Given the description of an element on the screen output the (x, y) to click on. 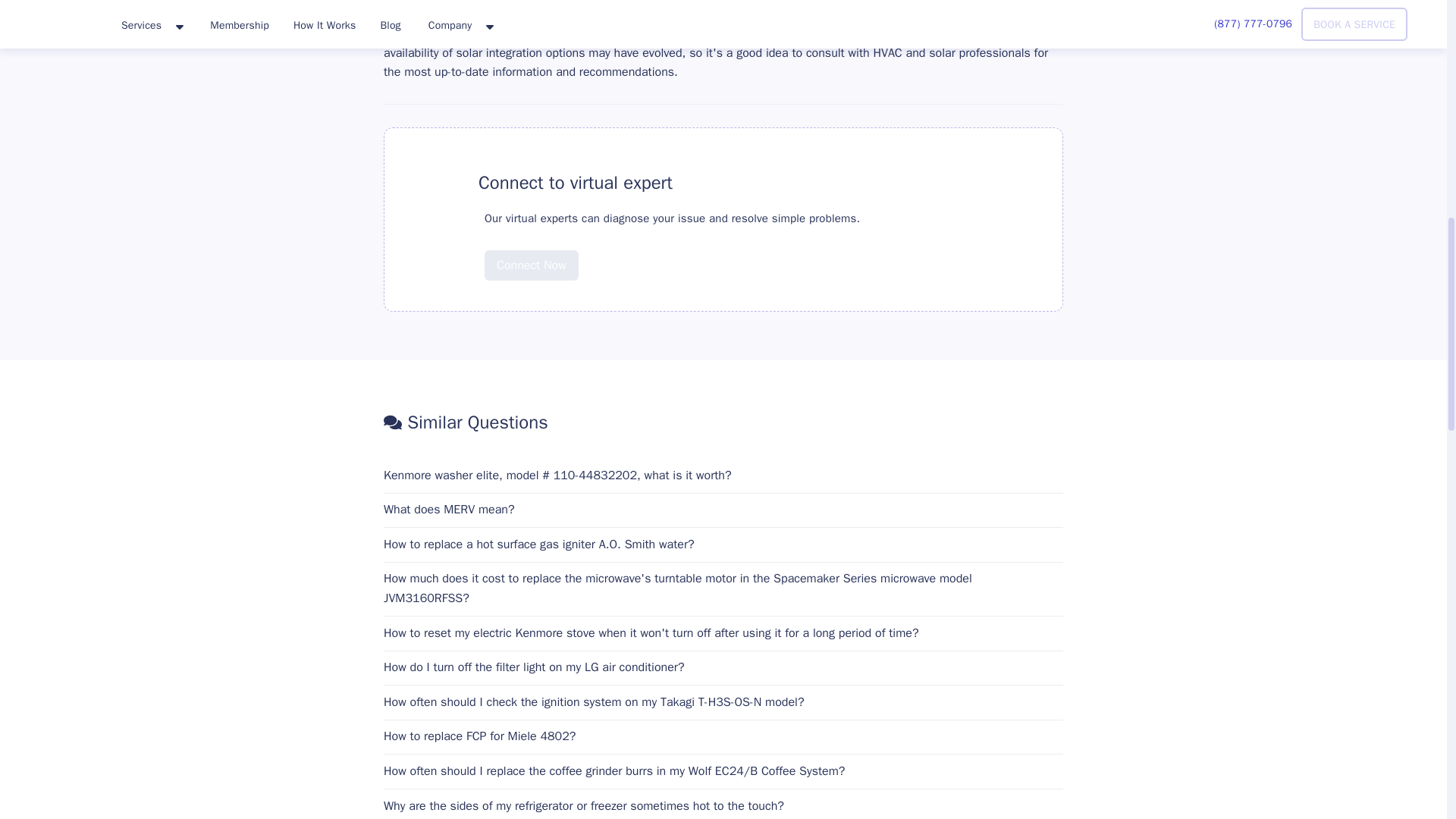
Connect Now (531, 253)
How do I turn off the filter light on my LG air conditioner? (723, 668)
FAQ (438, 182)
How to replace FCP for Miele 4802? (723, 736)
What does MERV mean? (723, 510)
How to replace a hot surface gas igniter A.O. Smith water? (723, 545)
Connect Now (531, 265)
